Given the description of an element on the screen output the (x, y) to click on. 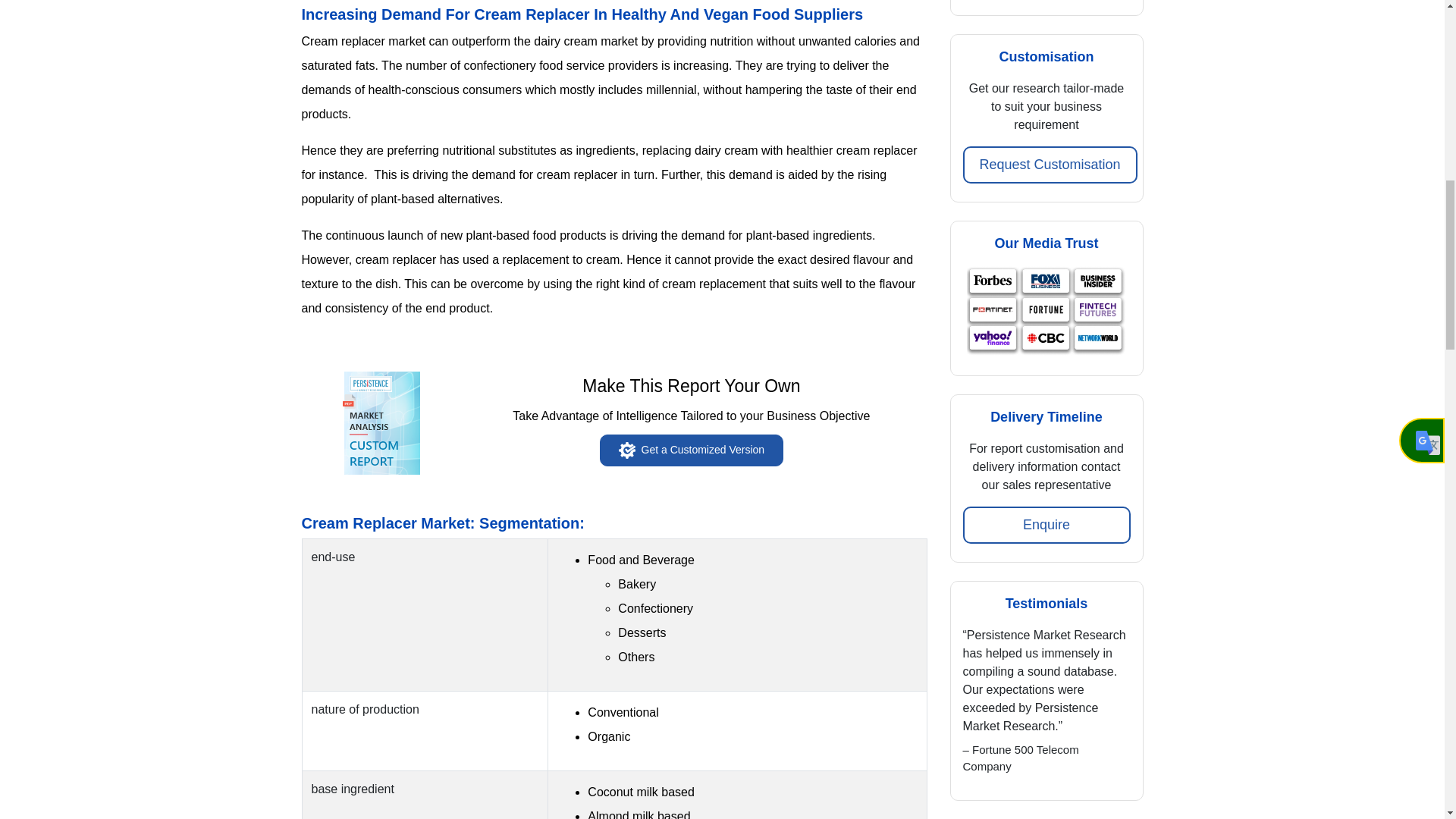
Enquire (1046, 524)
Request Customisation (1049, 164)
